Given the description of an element on the screen output the (x, y) to click on. 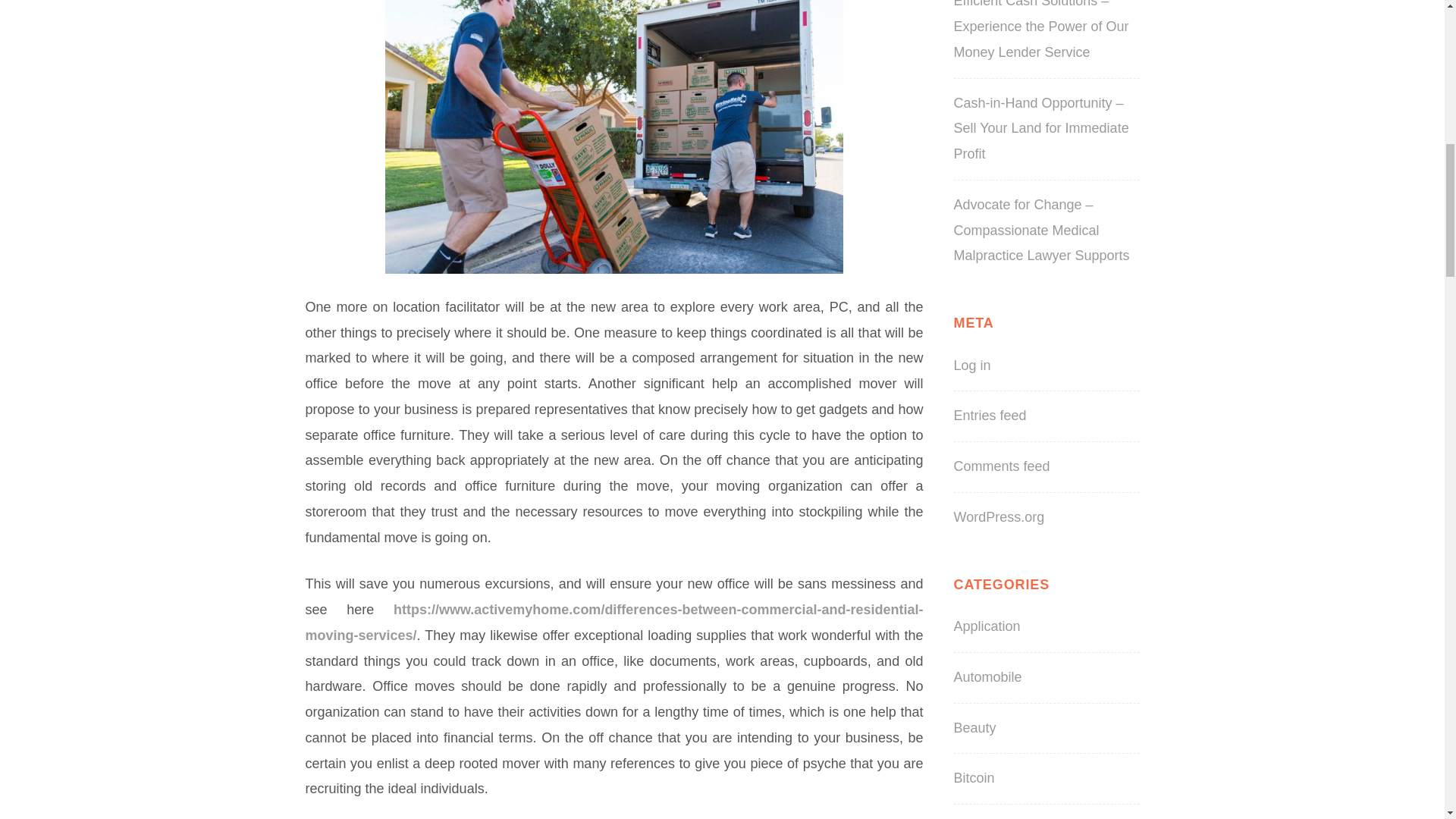
Beauty (974, 727)
Comments feed (1001, 466)
Entries feed (989, 415)
Automobile (987, 676)
Application (986, 626)
Bitcoin (973, 777)
WordPress.org (999, 516)
Log in (972, 365)
